Given the description of an element on the screen output the (x, y) to click on. 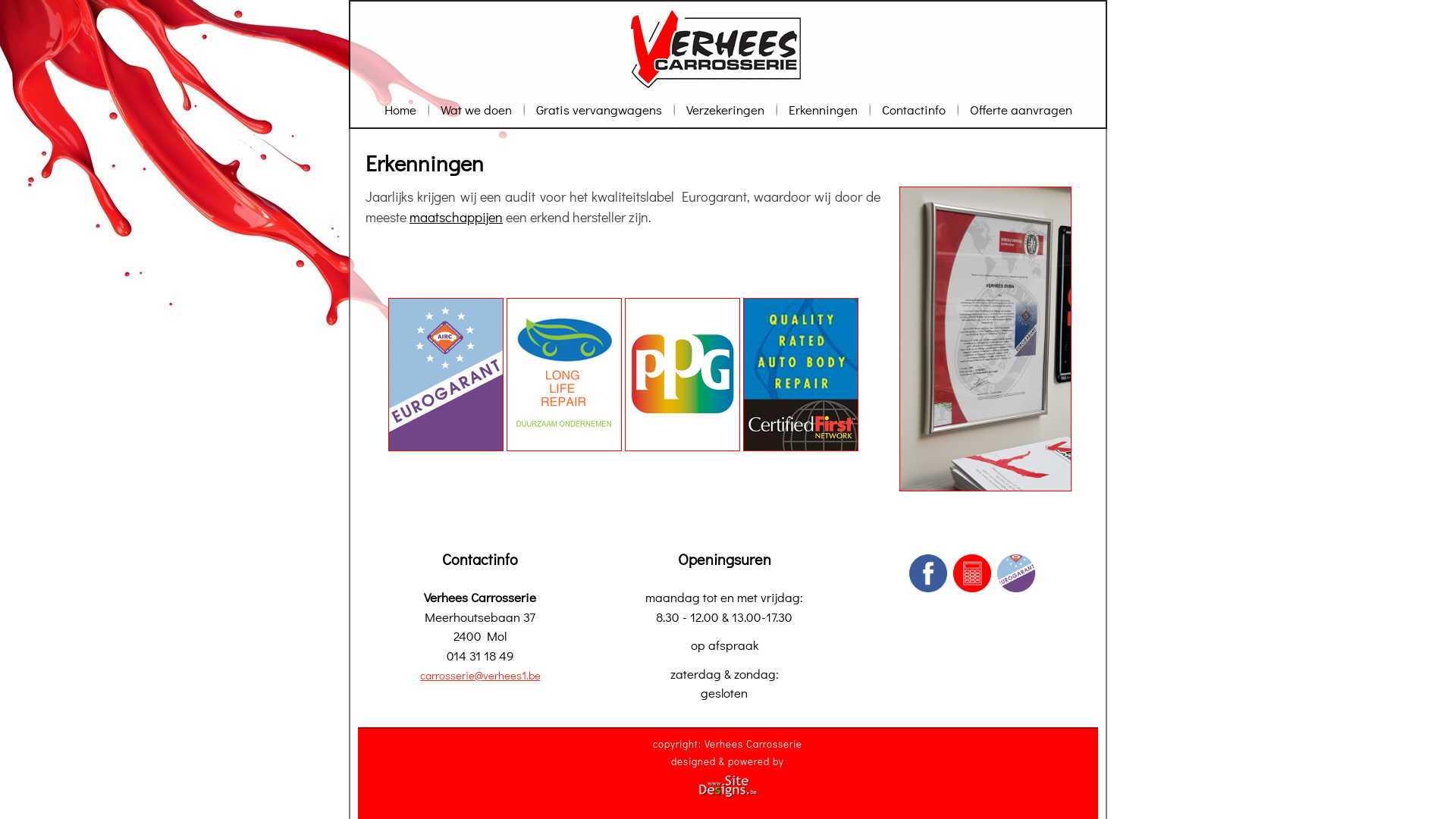
Contactinfo Element type: text (913, 109)
Volg ons op Facebook Element type: hover (928, 573)
carrosserie@verhees1.be Element type: text (480, 674)
Verzekeringen Element type: text (724, 109)
Offerte aanvragen Element type: hover (972, 573)
Offerte aanvragen Element type: text (1020, 109)
Erkenningen Element type: text (822, 109)
Home Element type: text (400, 109)
Wat we doen Element type: text (476, 109)
maatschappijen Element type: text (455, 216)
Gratis vervangwagens Element type: text (598, 109)
